Given the description of an element on the screen output the (x, y) to click on. 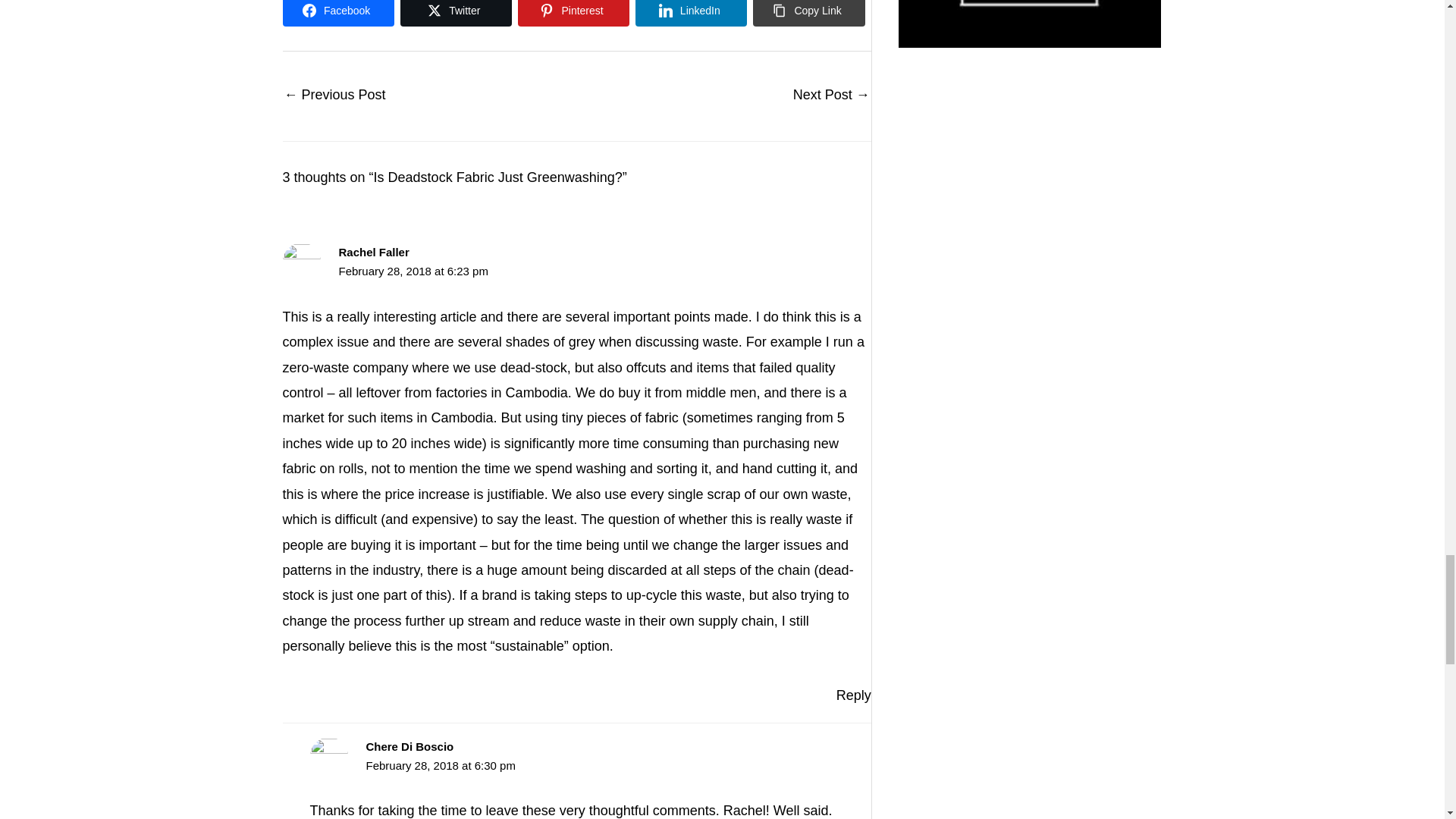
Share on Twitter (456, 13)
Homemade Plastic Free Christmas Gift Ideas We Love (831, 96)
Share on Pinterest (573, 13)
Share on Facebook (337, 13)
Share on LinkedIn (690, 13)
Fancy Vegan Recipes - Perfect For Dinner Parties! (334, 96)
Share on Copy Link (808, 13)
